Given the description of an element on the screen output the (x, y) to click on. 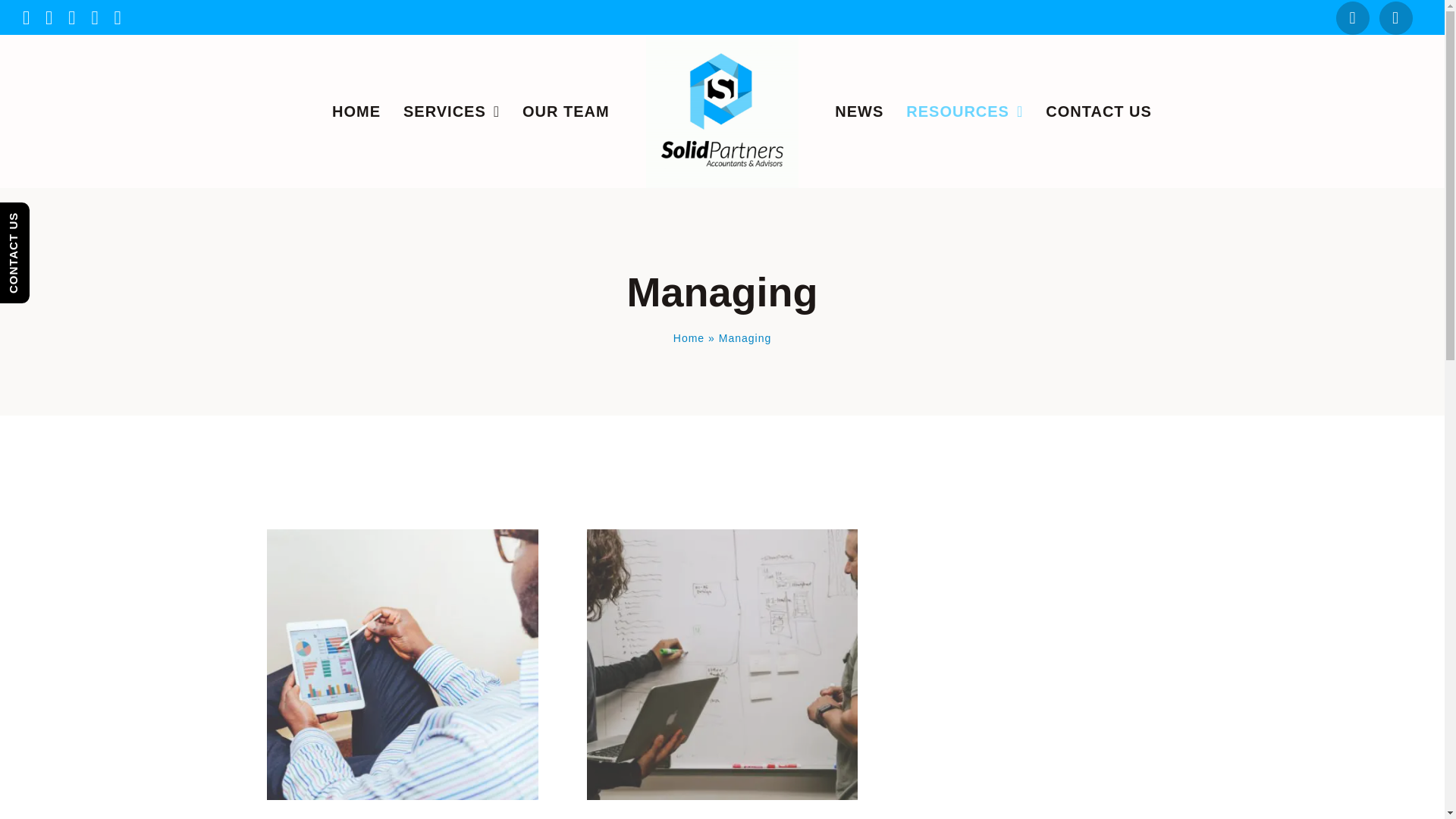
OUR TEAM (566, 111)
CONTACT US (1098, 111)
SERVICES (451, 111)
RESOURCES (964, 111)
